Given the description of an element on the screen output the (x, y) to click on. 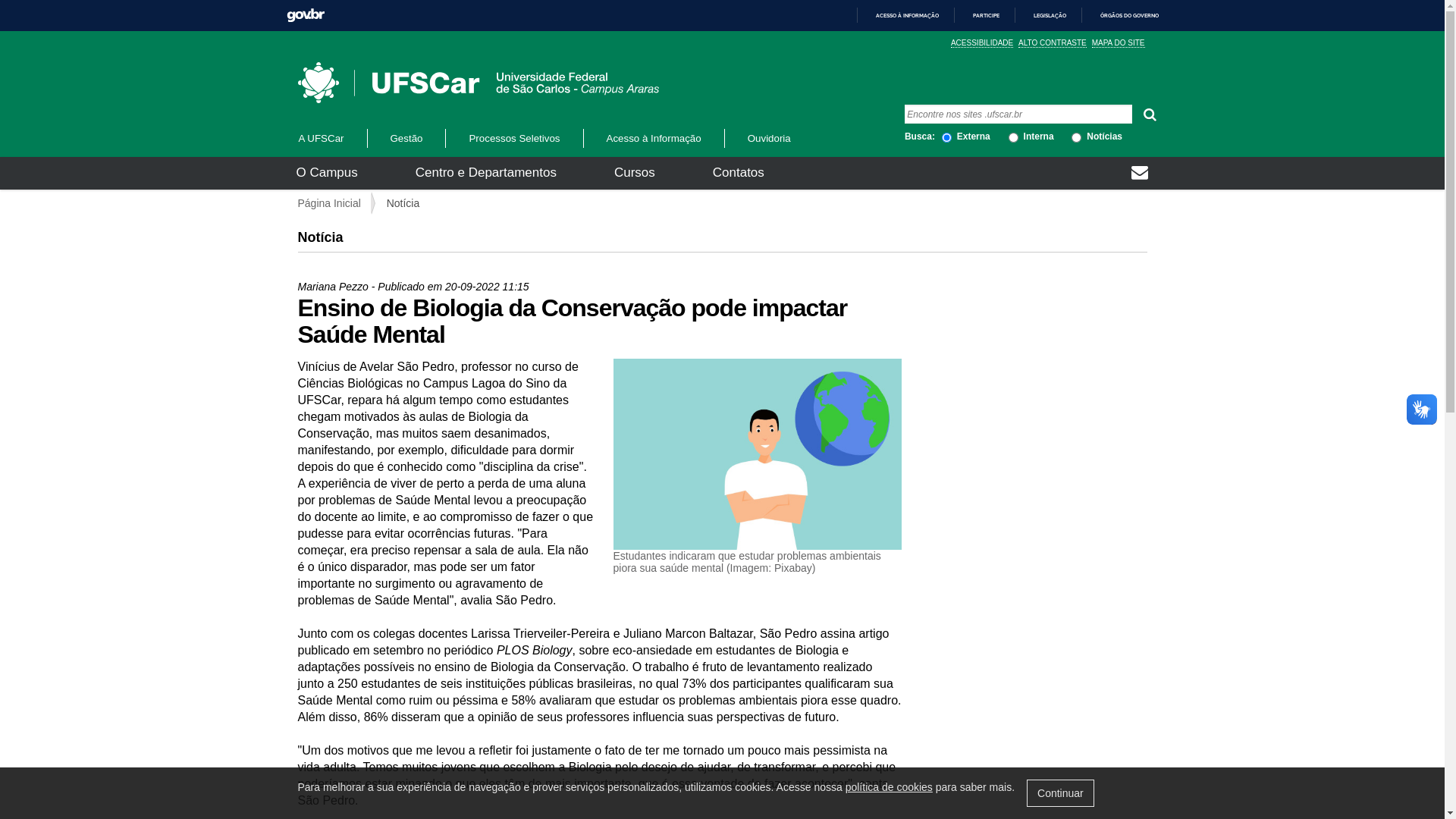
Cursos Element type: text (634, 172)
GOVBR Element type: text (305, 14)
Processos Seletivos Element type: text (513, 137)
MAPA DO SITE Element type: text (1118, 42)
Centro e Departamentos Element type: text (485, 172)
WEBmail Element type: hover (1139, 174)
Encontre nos sites .ufscar.br Element type: hover (1018, 113)
Continuar Element type: text (1060, 793)
O Campus Element type: text (325, 172)
UFSCar Campus Araras Element type: hover (477, 82)
ALTO CONTRASTE Element type: text (1052, 42)
Ouvidoria Element type: text (768, 137)
Contatos Element type: text (738, 172)
A UFSCar Element type: text (330, 137)
ACESSIBILIDADE Element type: text (981, 42)
PARTICIPE Element type: text (979, 15)
UFSCar - Campus Araras Element type: hover (427, 82)
